Given the description of an element on the screen output the (x, y) to click on. 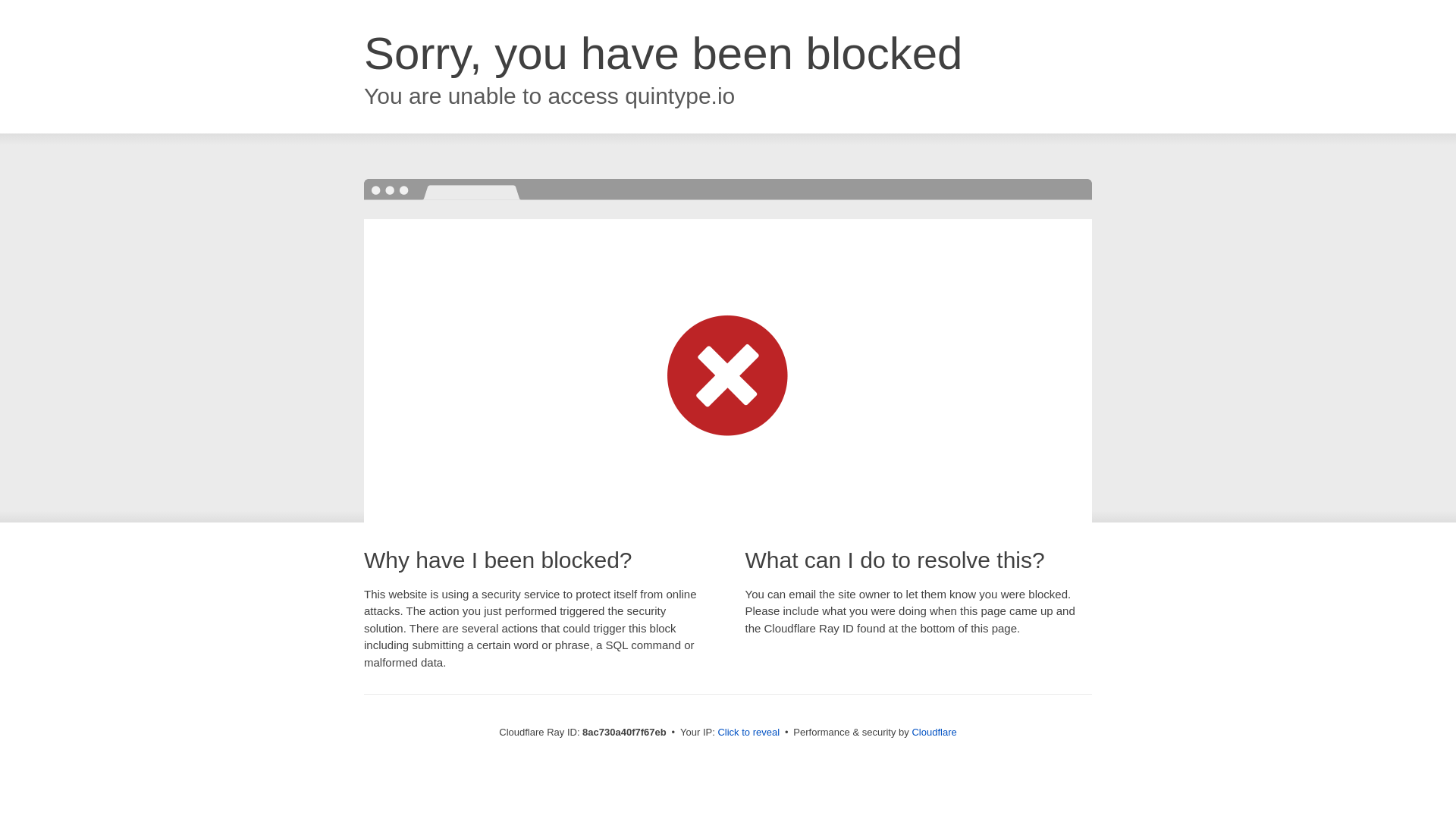
Click to reveal (747, 732)
Cloudflare (933, 731)
